Given the description of an element on the screen output the (x, y) to click on. 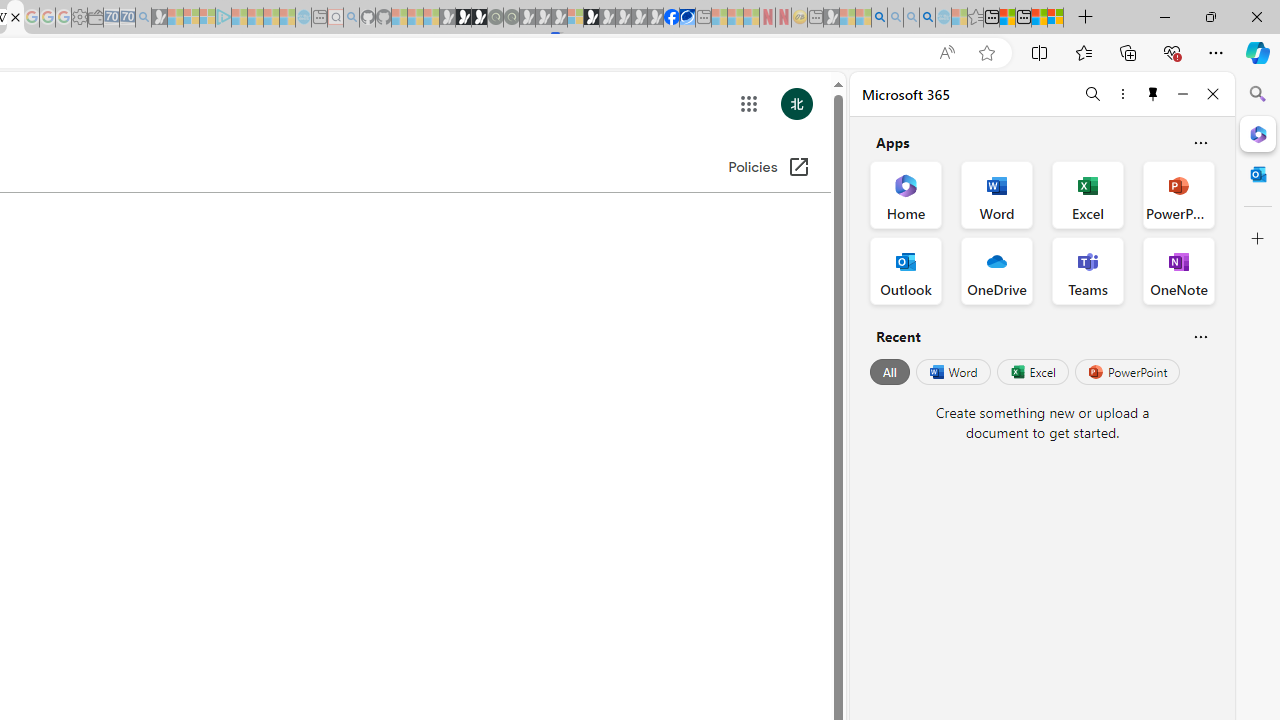
Word (952, 372)
All (890, 372)
Nordace | Facebook (671, 17)
Class: gb_E (749, 103)
